Given the description of an element on the screen output the (x, y) to click on. 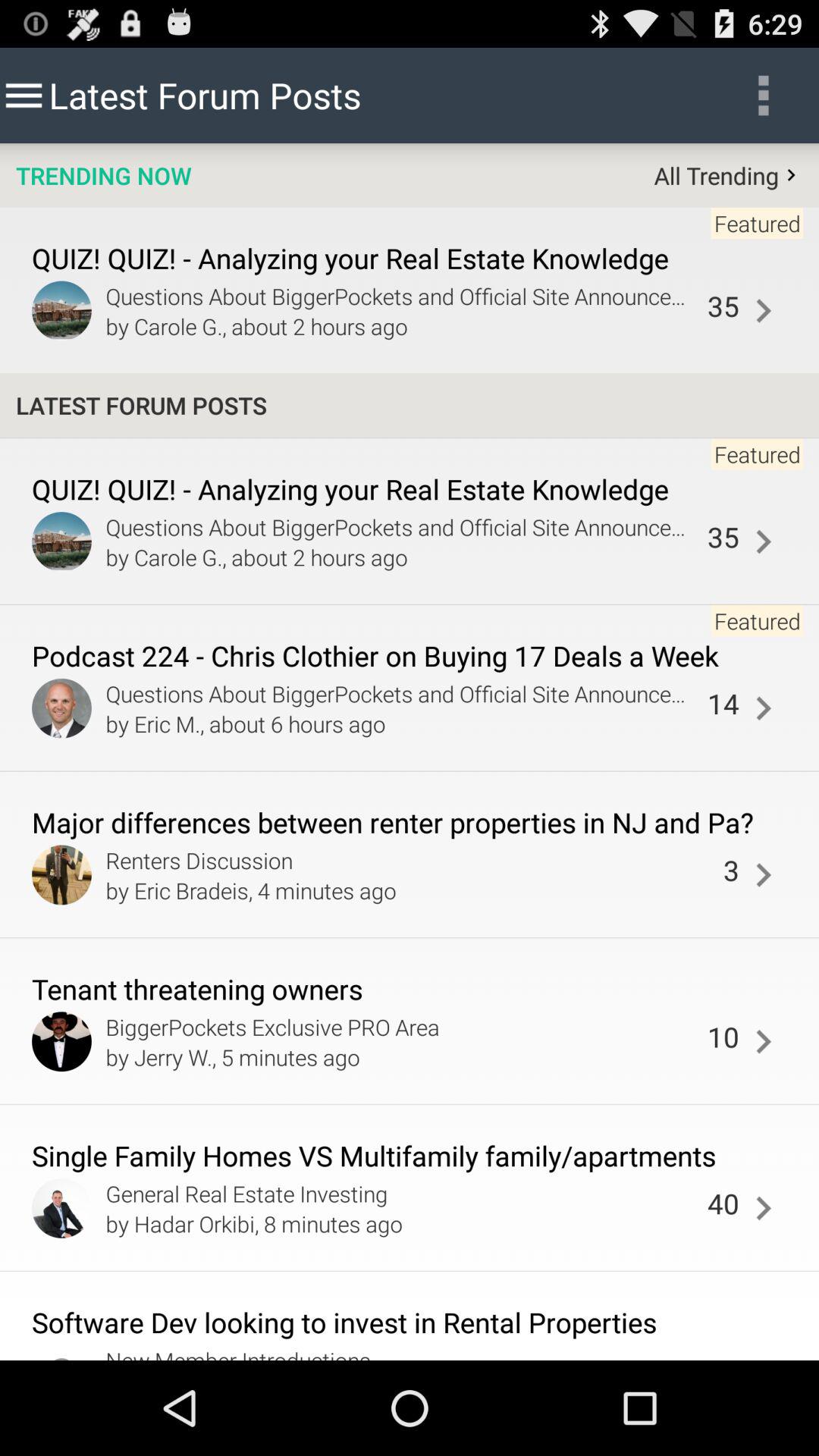
turn off app above major differences between icon (723, 703)
